Given the description of an element on the screen output the (x, y) to click on. 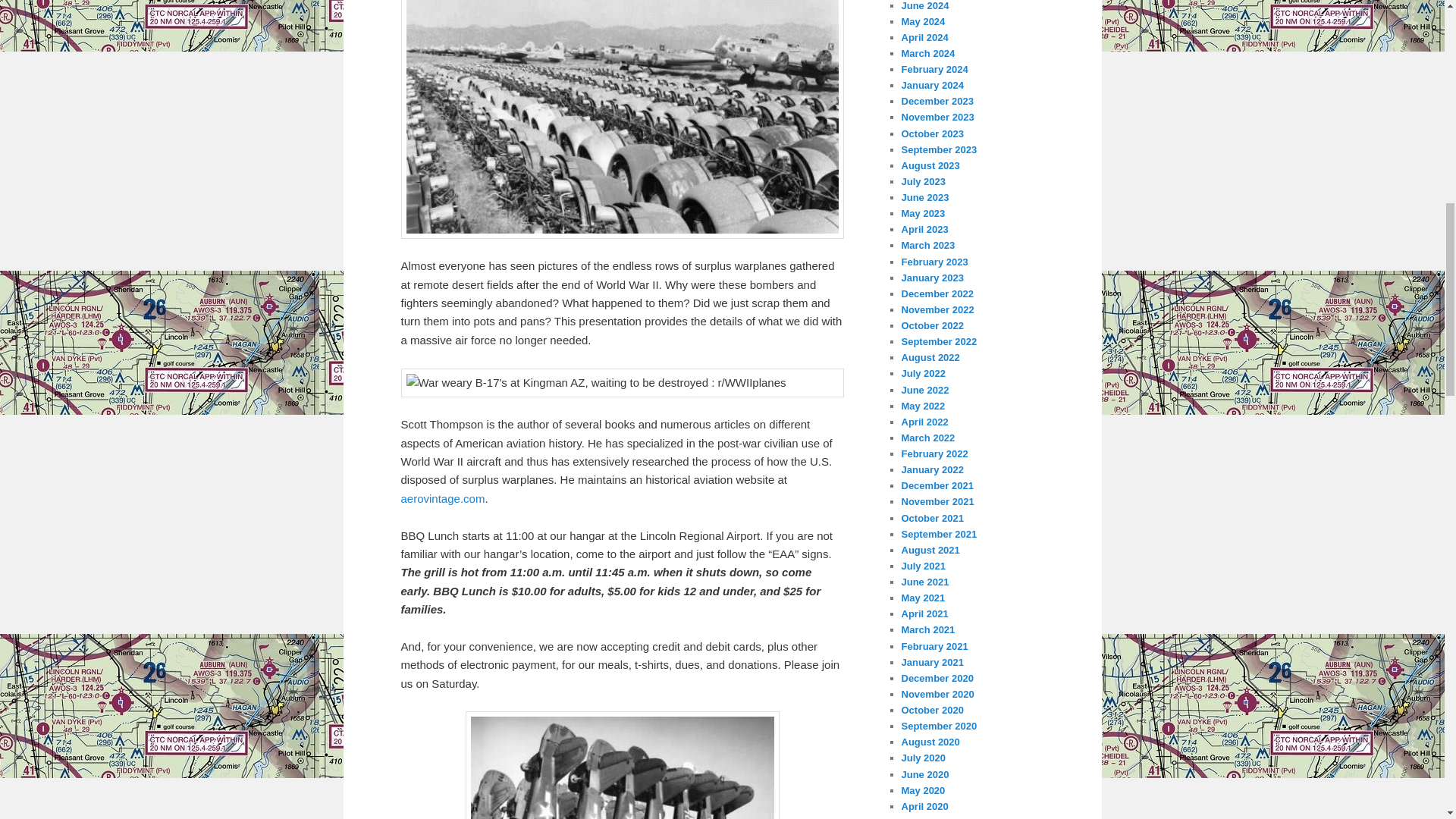
May 2024 (922, 21)
March 2024 (928, 52)
April 2024 (924, 37)
June 2024 (925, 5)
aerovintage.com (442, 498)
